Given the description of an element on the screen output the (x, y) to click on. 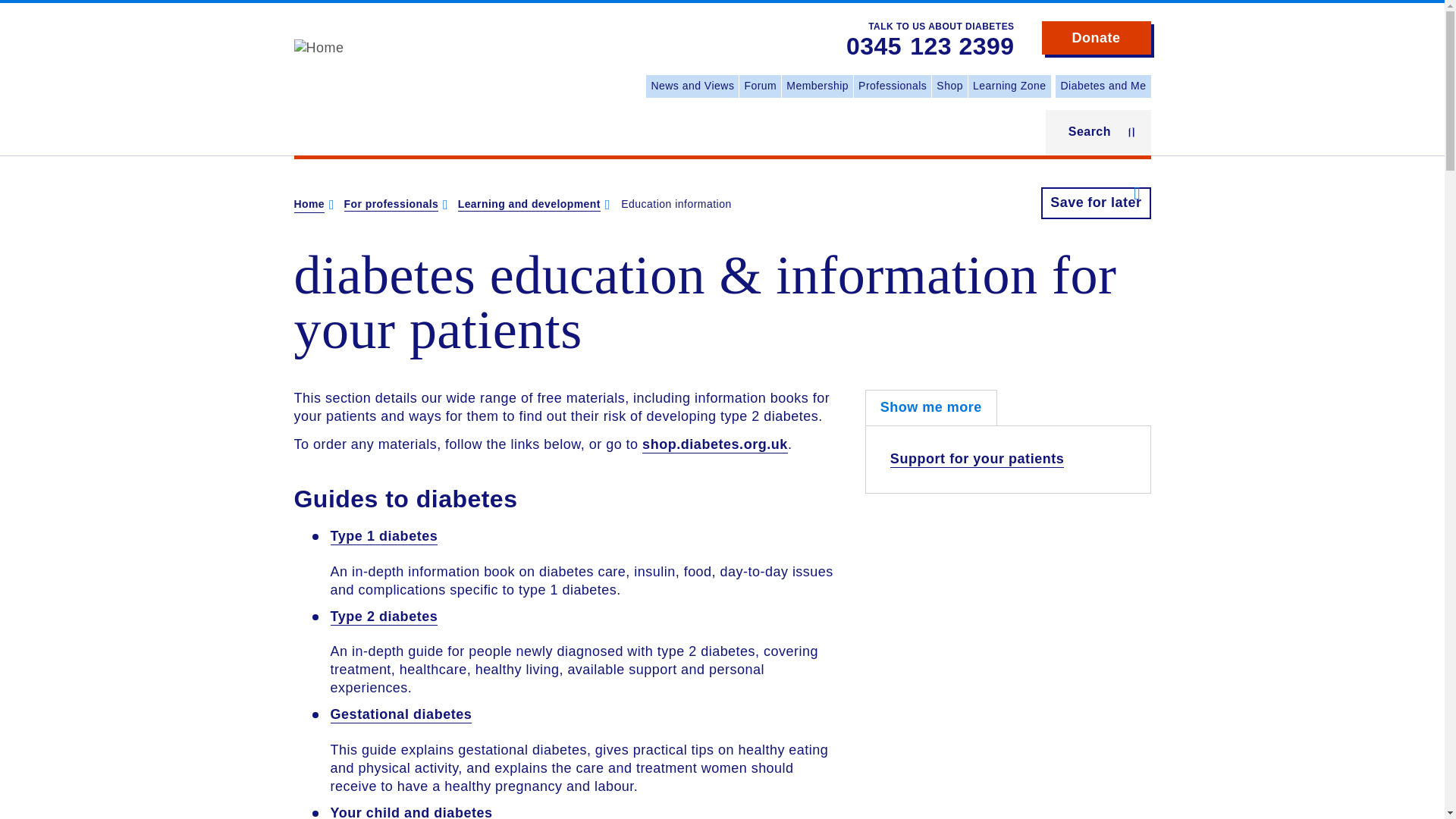
0345123 2399 (929, 46)
For professionals (391, 204)
Learning Zone (1009, 86)
Donate (1096, 37)
Type 1 diabetes (384, 536)
Diabetes and Me (1102, 86)
shop.diabetes.org.uk (714, 444)
Learning and development (528, 204)
News and Views (692, 86)
Your child and diabetes (411, 812)
Professionals (892, 86)
Type 2 diabetes (384, 617)
Gestational diabetes (400, 714)
Home (309, 204)
Forum (759, 86)
